Given the description of an element on the screen output the (x, y) to click on. 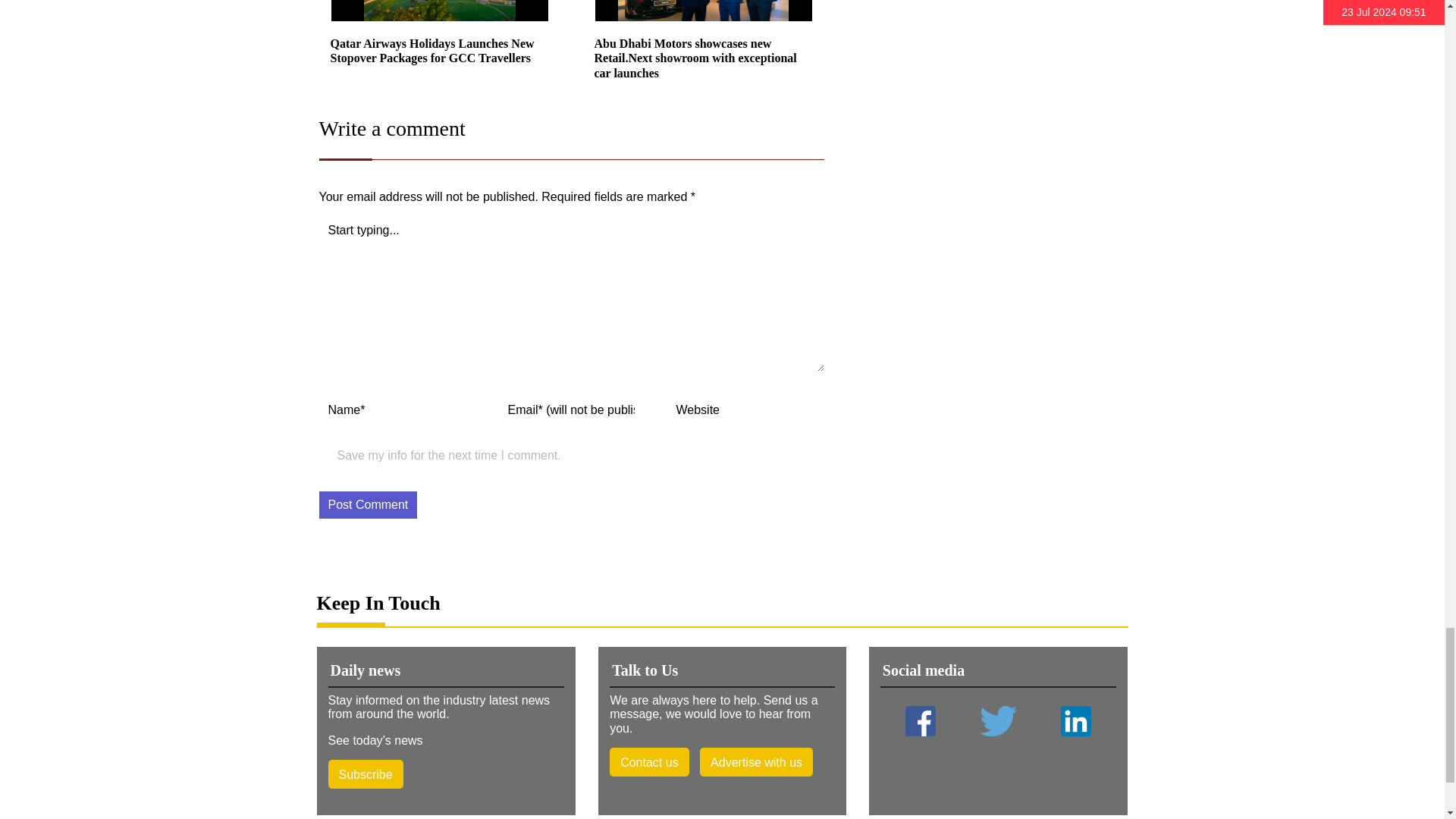
Post Comment (367, 504)
yes (324, 458)
